Given the description of an element on the screen output the (x, y) to click on. 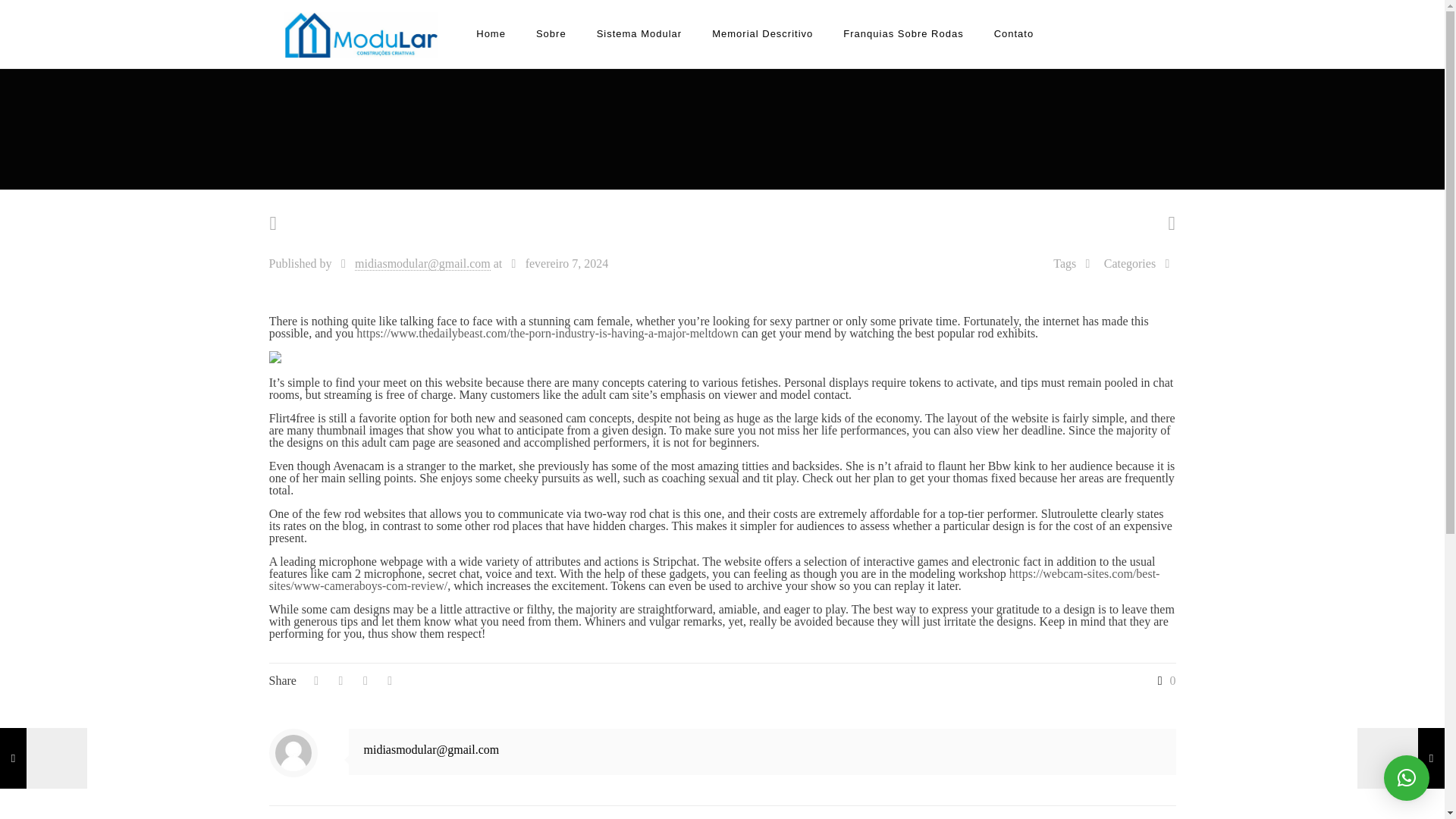
Sistema Modular (638, 33)
Sobre (550, 33)
sejamodular.com.br (360, 33)
Franquias Sobre Rodas (903, 33)
0 (1162, 680)
Memorial Descritivo (762, 33)
Contato (1013, 33)
